Given the description of an element on the screen output the (x, y) to click on. 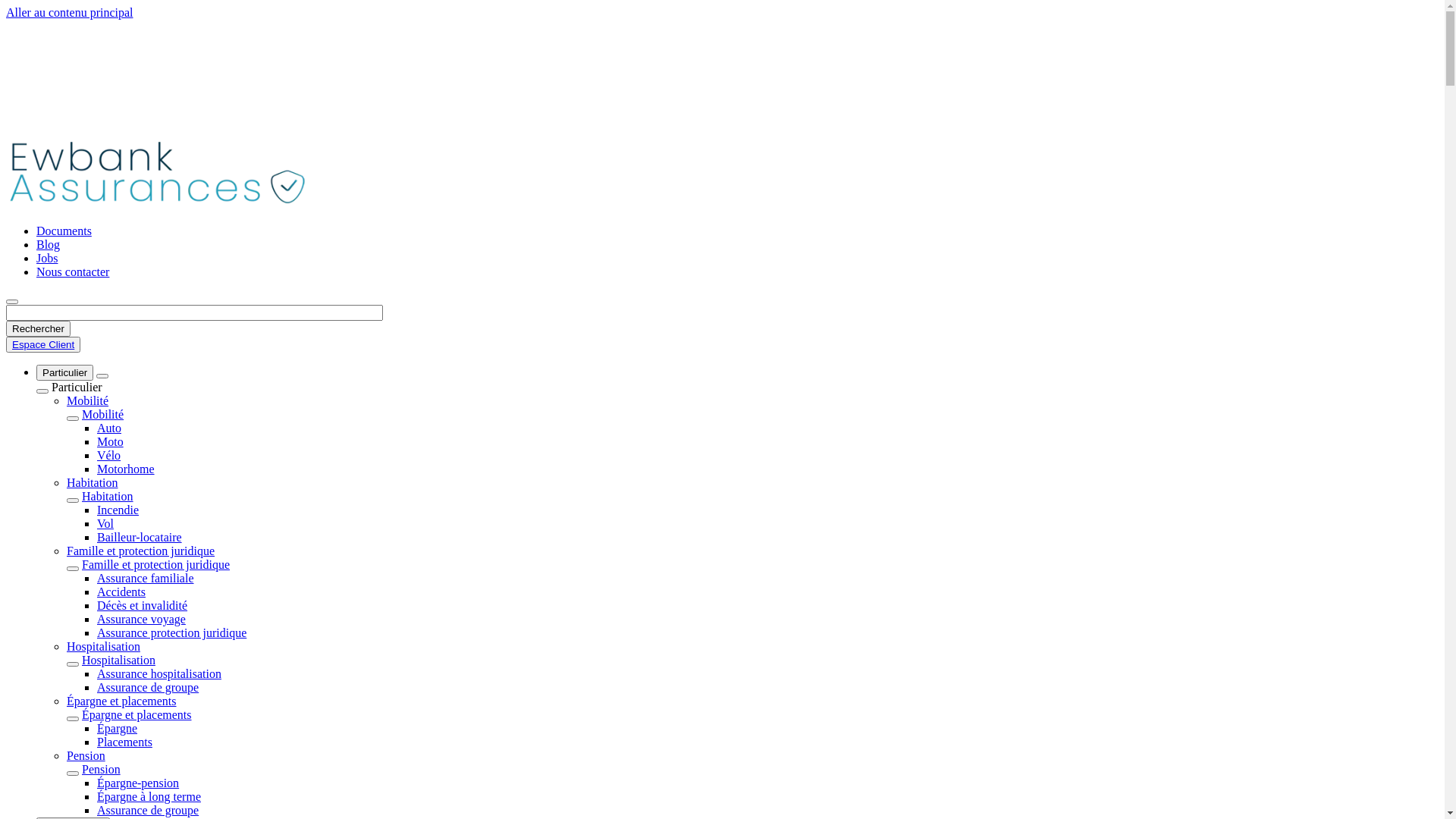
Incendie Element type: text (117, 509)
Pension Element type: text (85, 755)
Moto Element type: text (110, 441)
Assurance familiale Element type: text (145, 577)
Placements Element type: text (124, 741)
Espace Client Element type: text (43, 344)
Vol Element type: text (105, 523)
Accidents Element type: text (121, 591)
Particulier Element type: text (64, 372)
Auto Element type: text (109, 427)
Blog Element type: text (47, 244)
Hospitalisation Element type: text (103, 646)
Habitation Element type: text (92, 482)
Aller au contenu principal Element type: text (69, 12)
Assurance de groupe Element type: text (147, 809)
Nous contacter Element type: text (72, 271)
Bailleur-locataire Element type: text (139, 536)
Jobs Element type: text (46, 257)
Pension Element type: text (100, 768)
Documents Element type: text (63, 230)
Assurance de groupe Element type: text (147, 686)
Assurance protection juridique Element type: text (171, 632)
Famille et protection juridique Element type: text (140, 550)
Espace Client Element type: text (43, 344)
Motorhome Element type: text (125, 468)
Habitation Element type: text (107, 495)
Assurance hospitalisation Element type: text (159, 673)
Hospitalisation Element type: text (118, 659)
Famille et protection juridique Element type: text (155, 564)
Rechercher Element type: text (38, 328)
Assurance voyage Element type: text (141, 618)
